Given the description of an element on the screen output the (x, y) to click on. 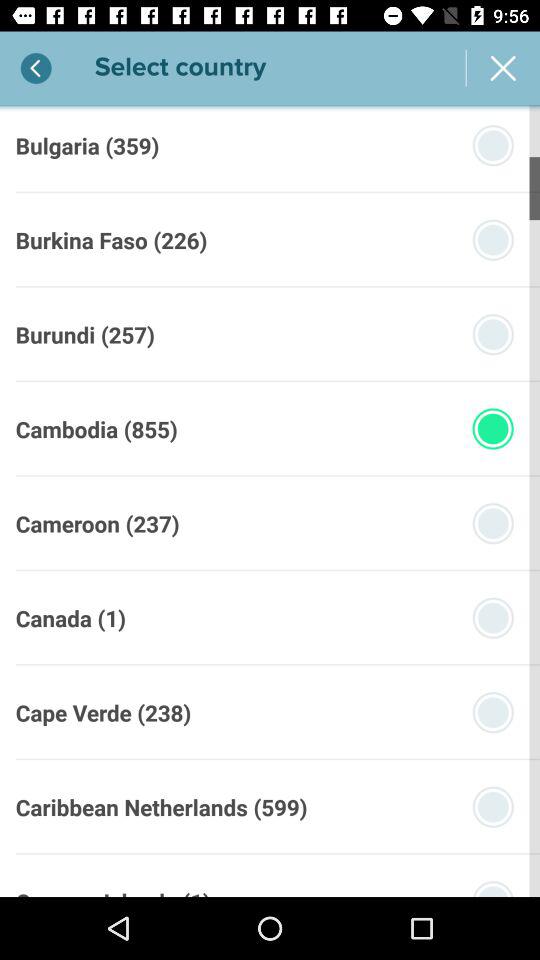
jump until cayman islands (1) (112, 891)
